Given the description of an element on the screen output the (x, y) to click on. 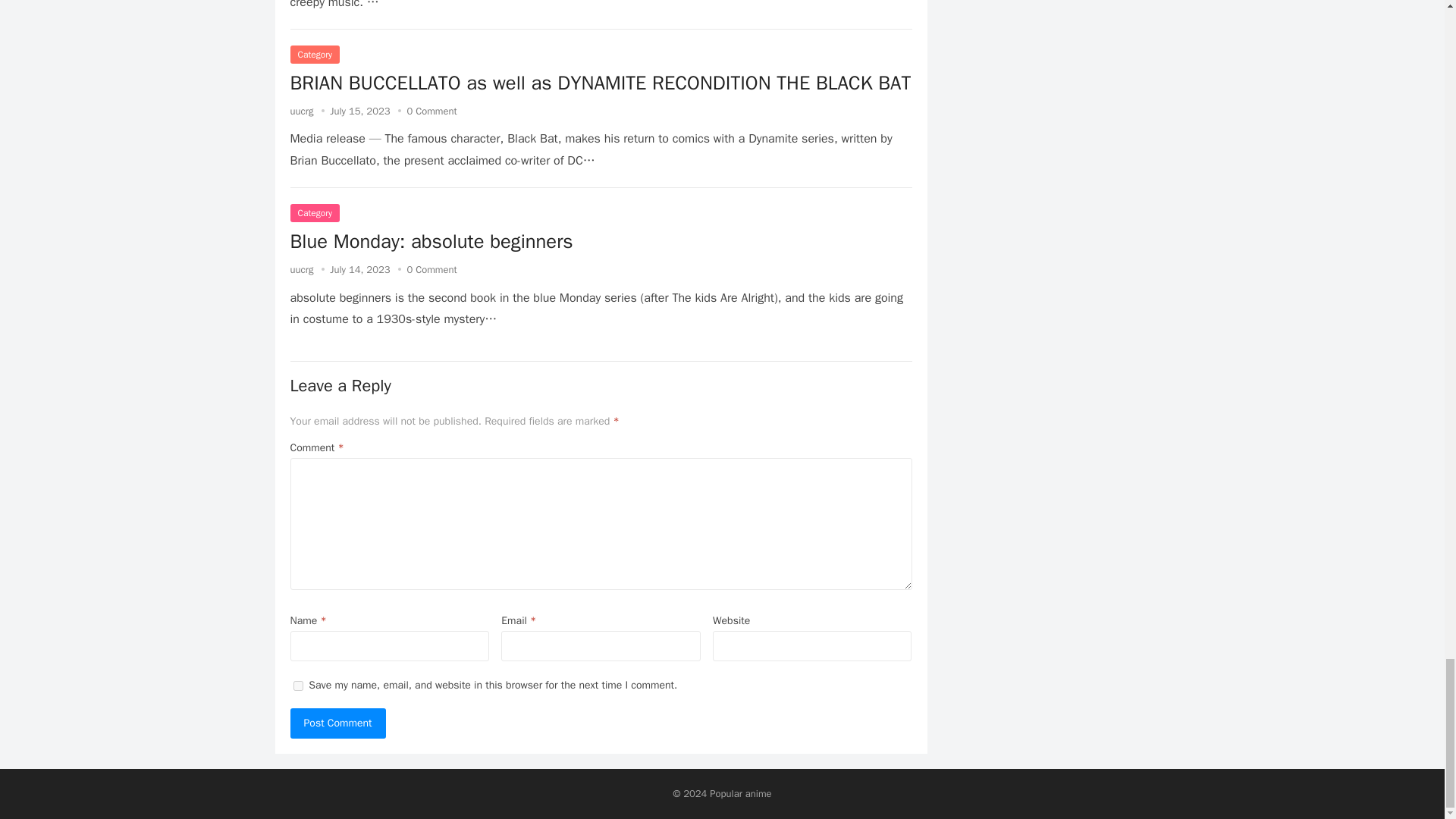
Post Comment (337, 723)
0 Comment (431, 269)
Blue Monday: absolute beginners (430, 241)
Posts by uucrg (301, 269)
Category (314, 212)
yes (297, 685)
uucrg (301, 269)
Post Comment (337, 723)
uucrg (301, 110)
